Given the description of an element on the screen output the (x, y) to click on. 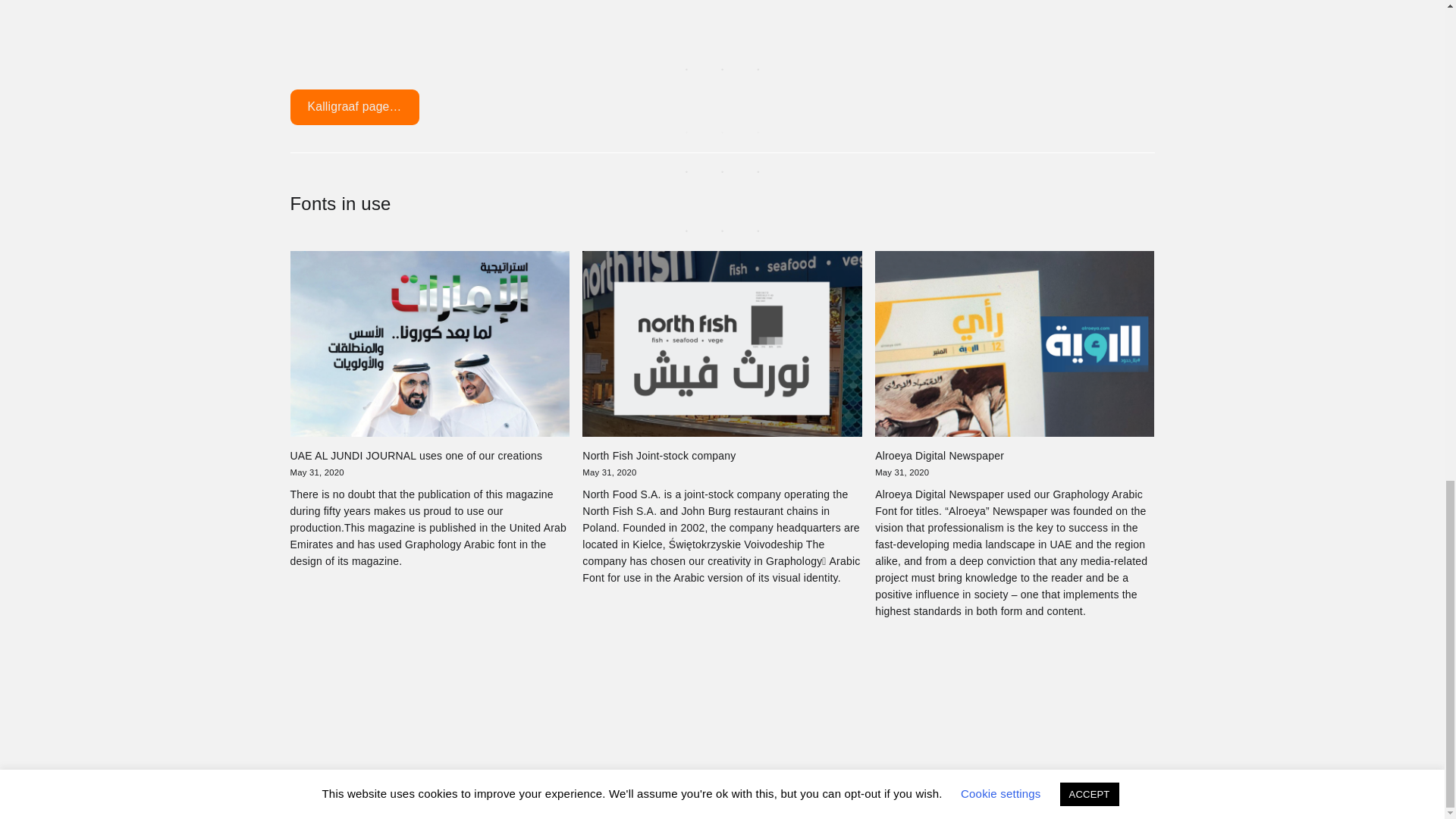
North Fish Joint-stock company (658, 455)
UAE AL JUNDI JOURNAL uses one of our creations (415, 455)
Fonts in use (339, 203)
Alroeya Digital Newspaper (939, 455)
